Given the description of an element on the screen output the (x, y) to click on. 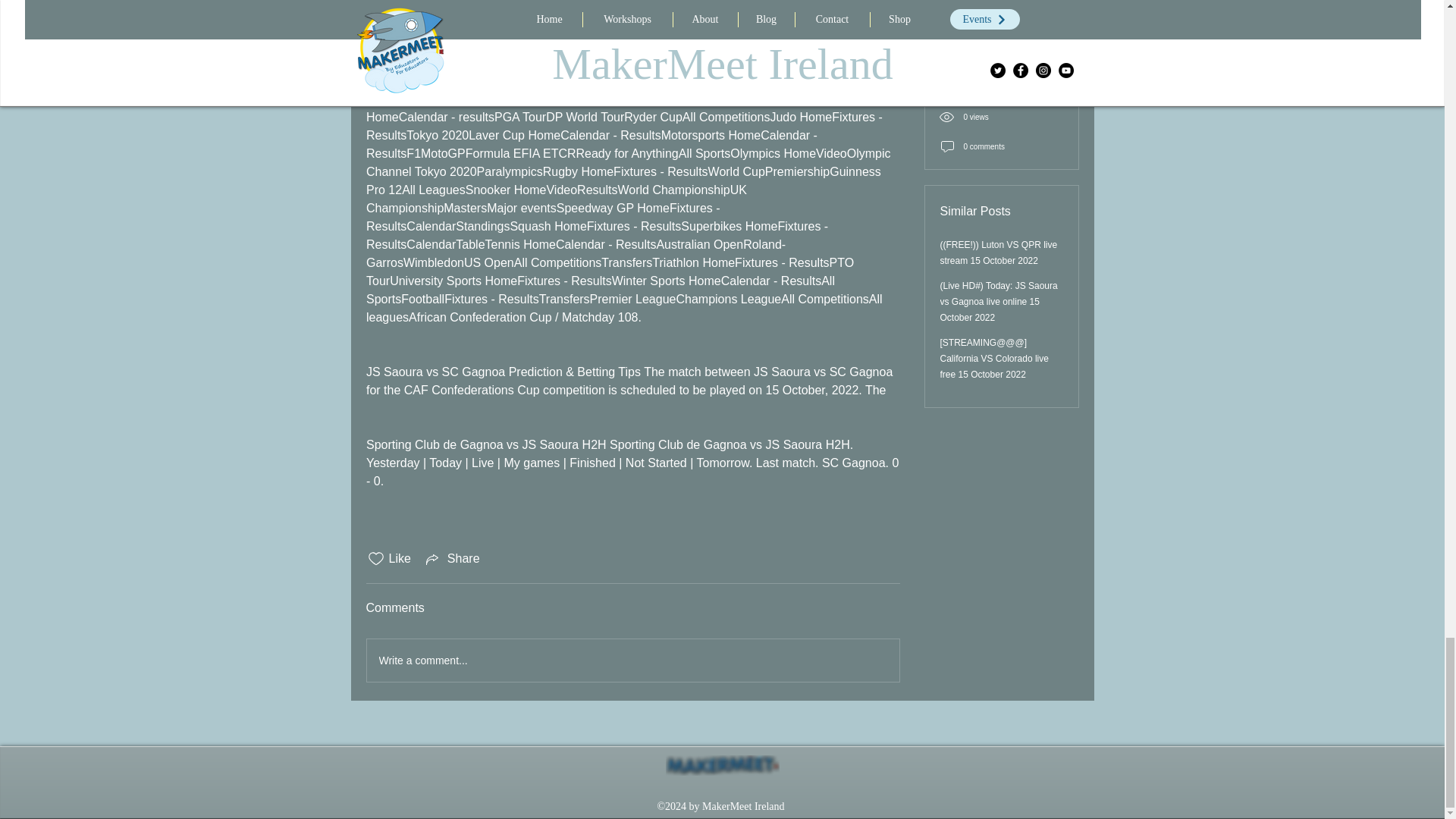
Write a comment... (632, 660)
Share (451, 558)
